Given the description of an element on the screen output the (x, y) to click on. 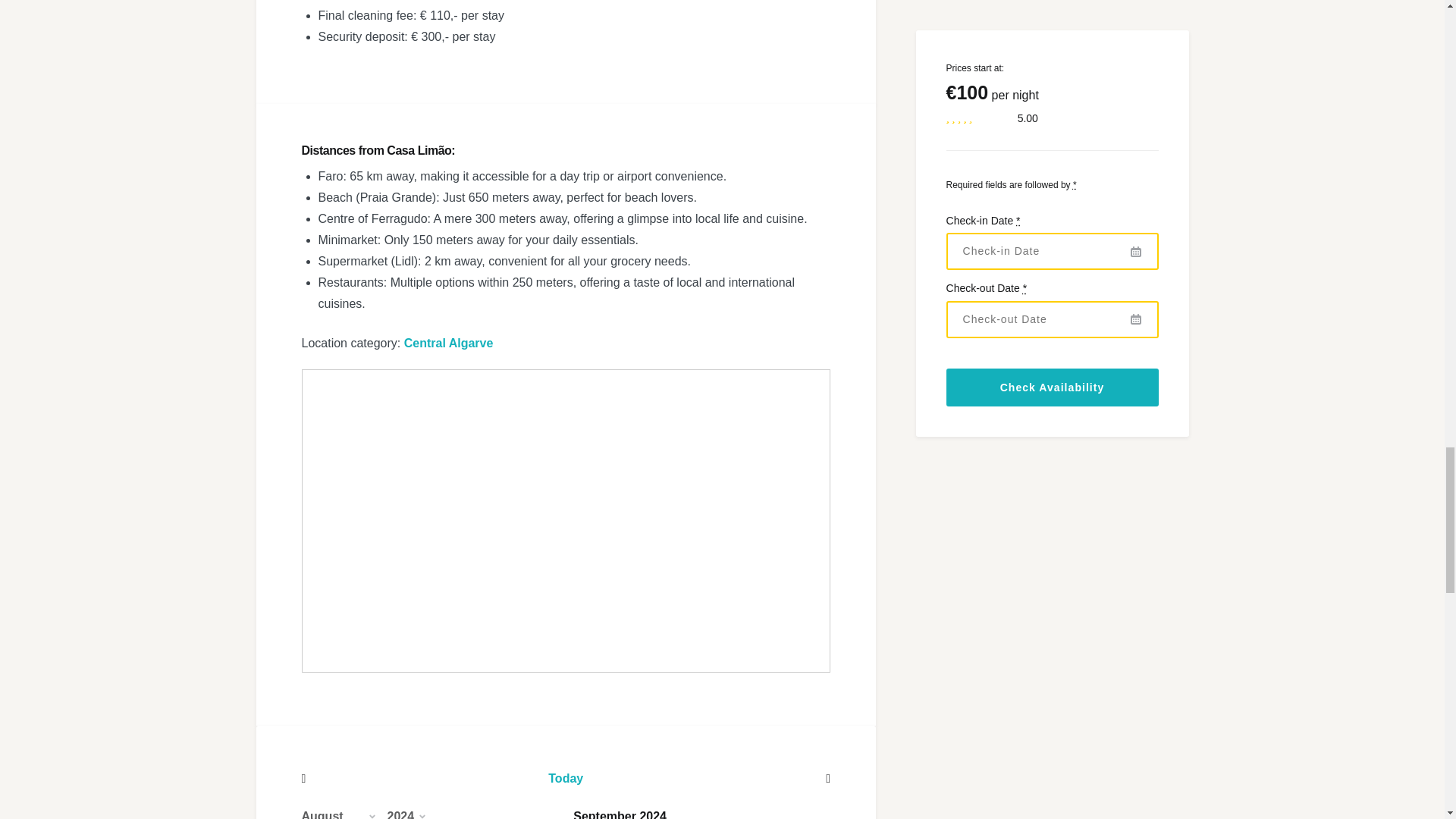
Show the next month (750, 778)
Show today's month (565, 778)
Show the previous month (380, 778)
Change the month (344, 810)
Change the year (411, 810)
